Given the description of an element on the screen output the (x, y) to click on. 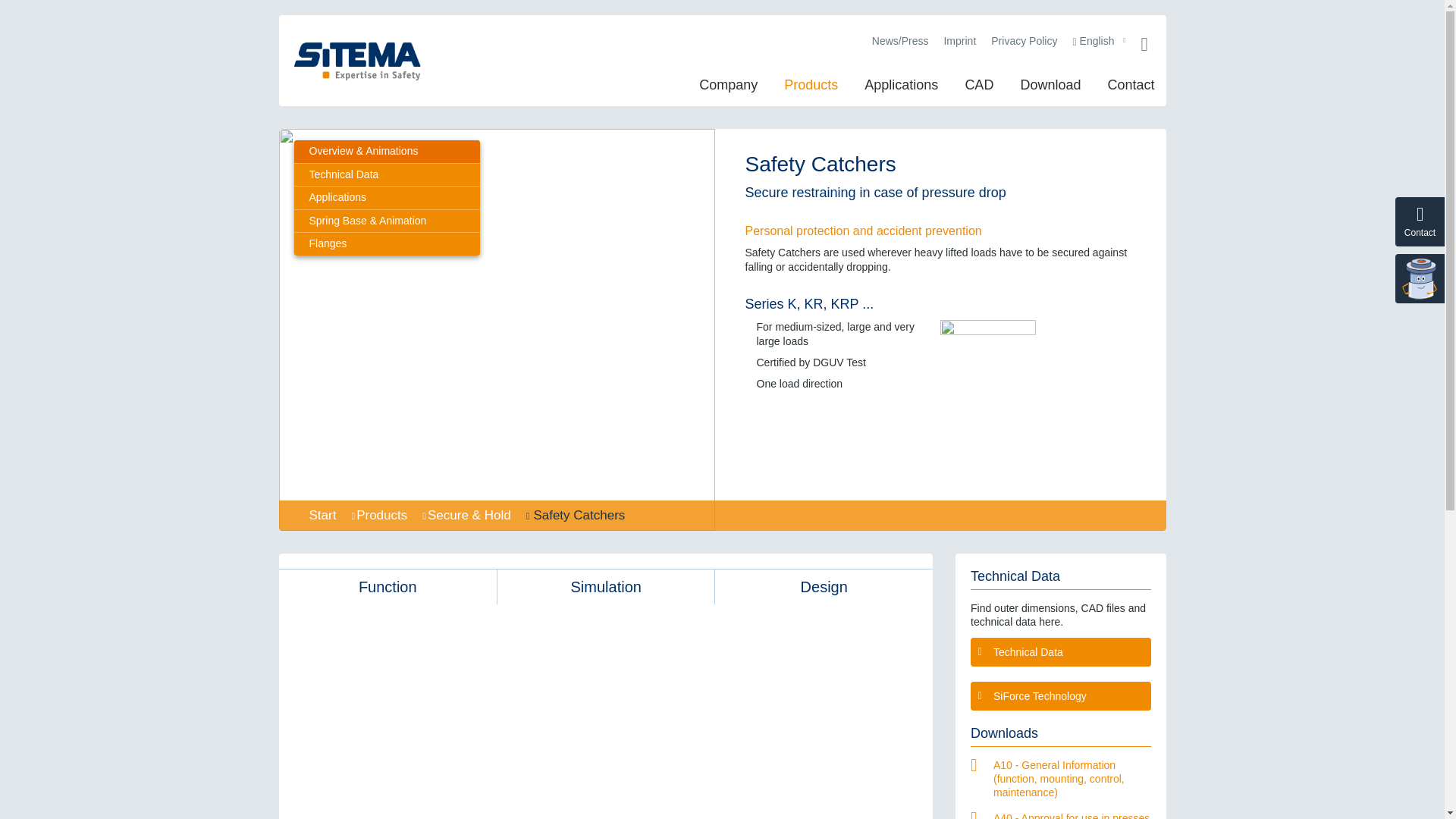
Imprint (959, 40)
Company (727, 85)
English (1098, 40)
English (1098, 40)
Products (810, 85)
Privacy Policy (1024, 40)
